Given the description of an element on the screen output the (x, y) to click on. 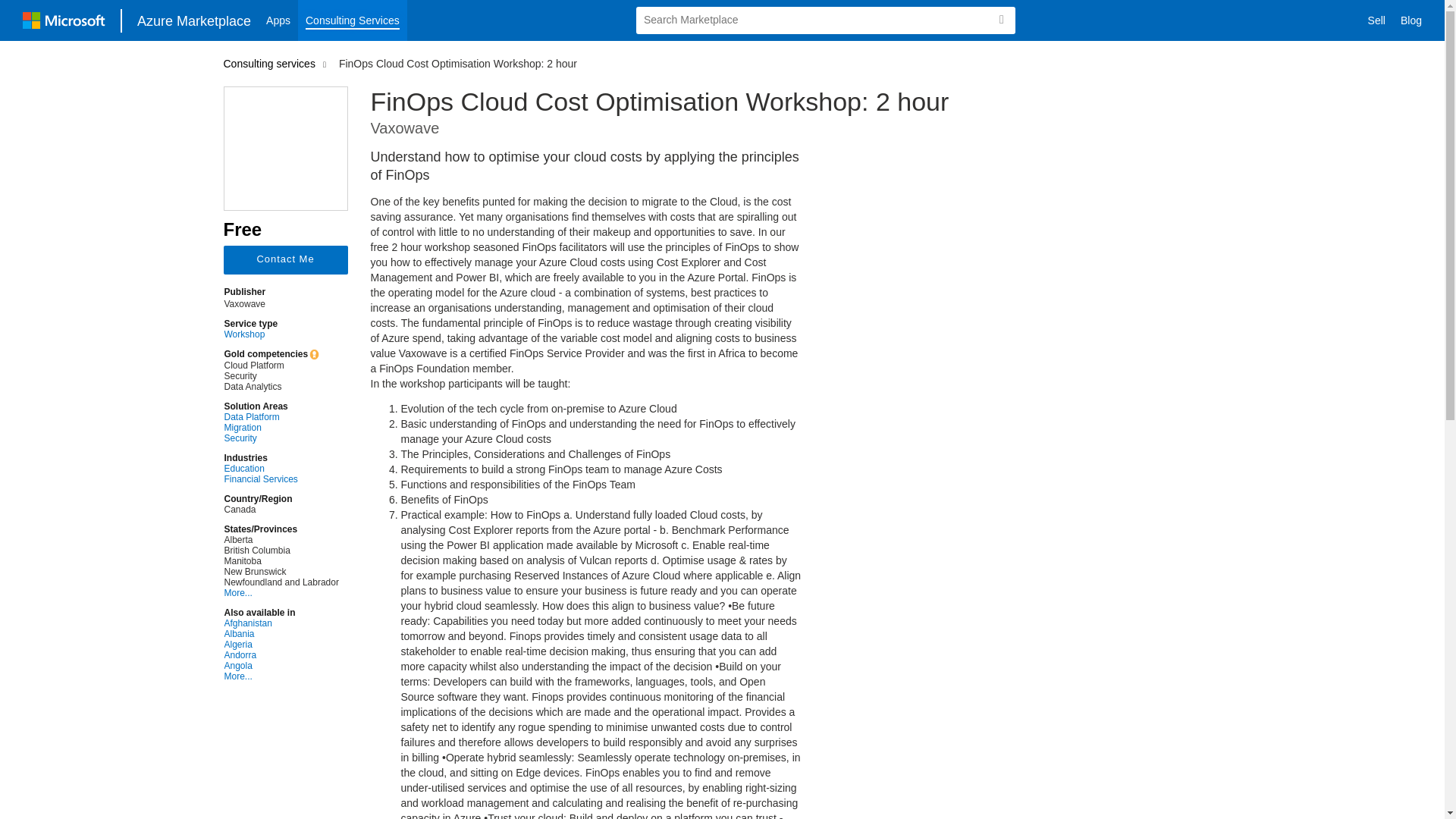
Search (1001, 19)
Security (281, 438)
Albania (281, 633)
Azure Marketplace (194, 20)
Angola (281, 665)
Education (281, 468)
Consulting Services (352, 20)
Blog (1411, 20)
Financial Services (281, 479)
Andorra (281, 655)
Afghanistan (281, 623)
Workshop (281, 334)
Algeria (281, 644)
Consulting services (271, 63)
Apps (278, 20)
